Given the description of an element on the screen output the (x, y) to click on. 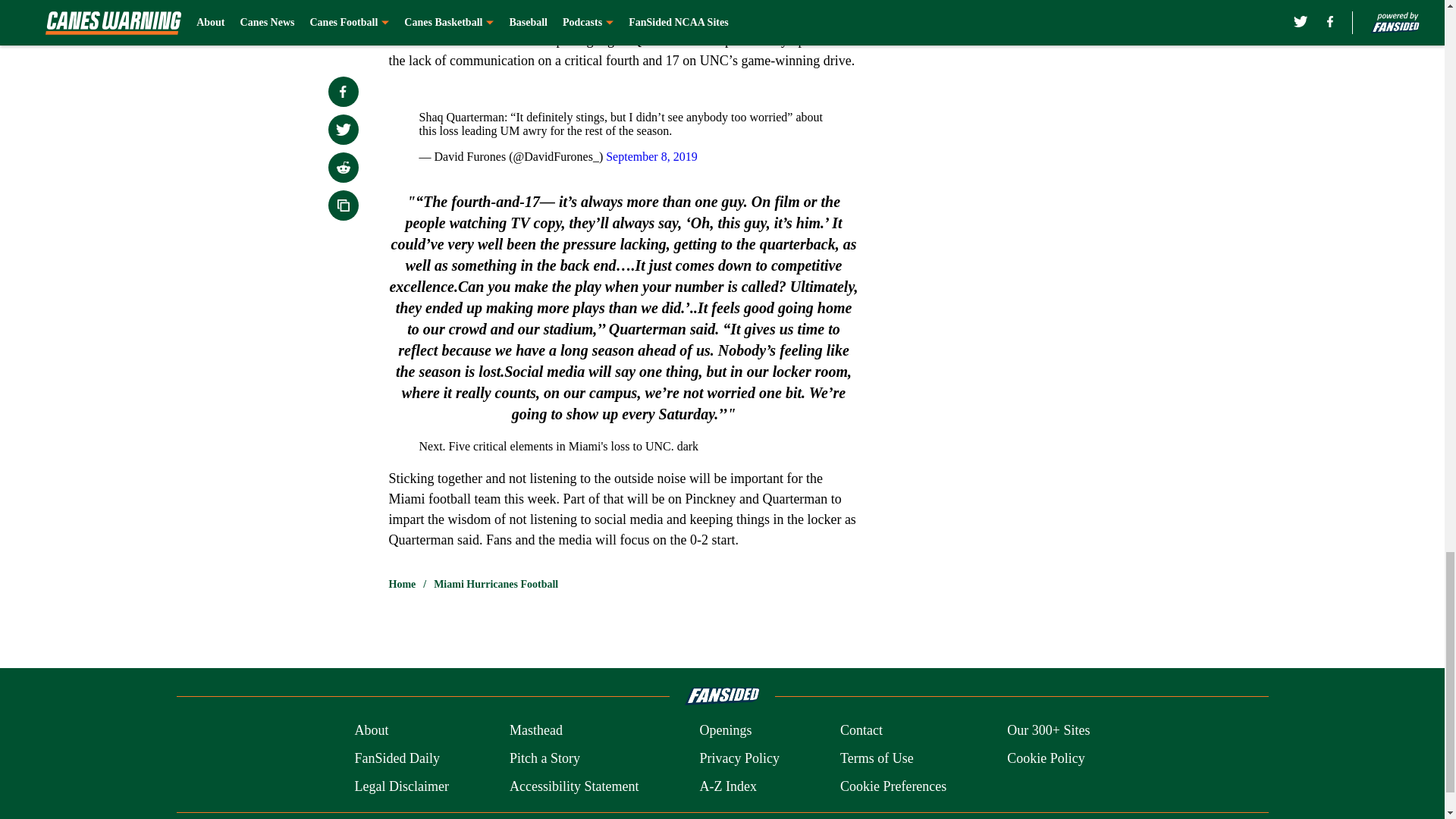
About (370, 730)
Pitch a Story (544, 758)
Cookie Policy (1045, 758)
Miami Hurricanes Football (495, 584)
Contact (861, 730)
September 8, 2019 (651, 155)
Terms of Use (877, 758)
Legal Disclaimer (400, 786)
Home (401, 584)
FanSided Daily (396, 758)
Masthead (535, 730)
Openings (724, 730)
Privacy Policy (738, 758)
